Given the description of an element on the screen output the (x, y) to click on. 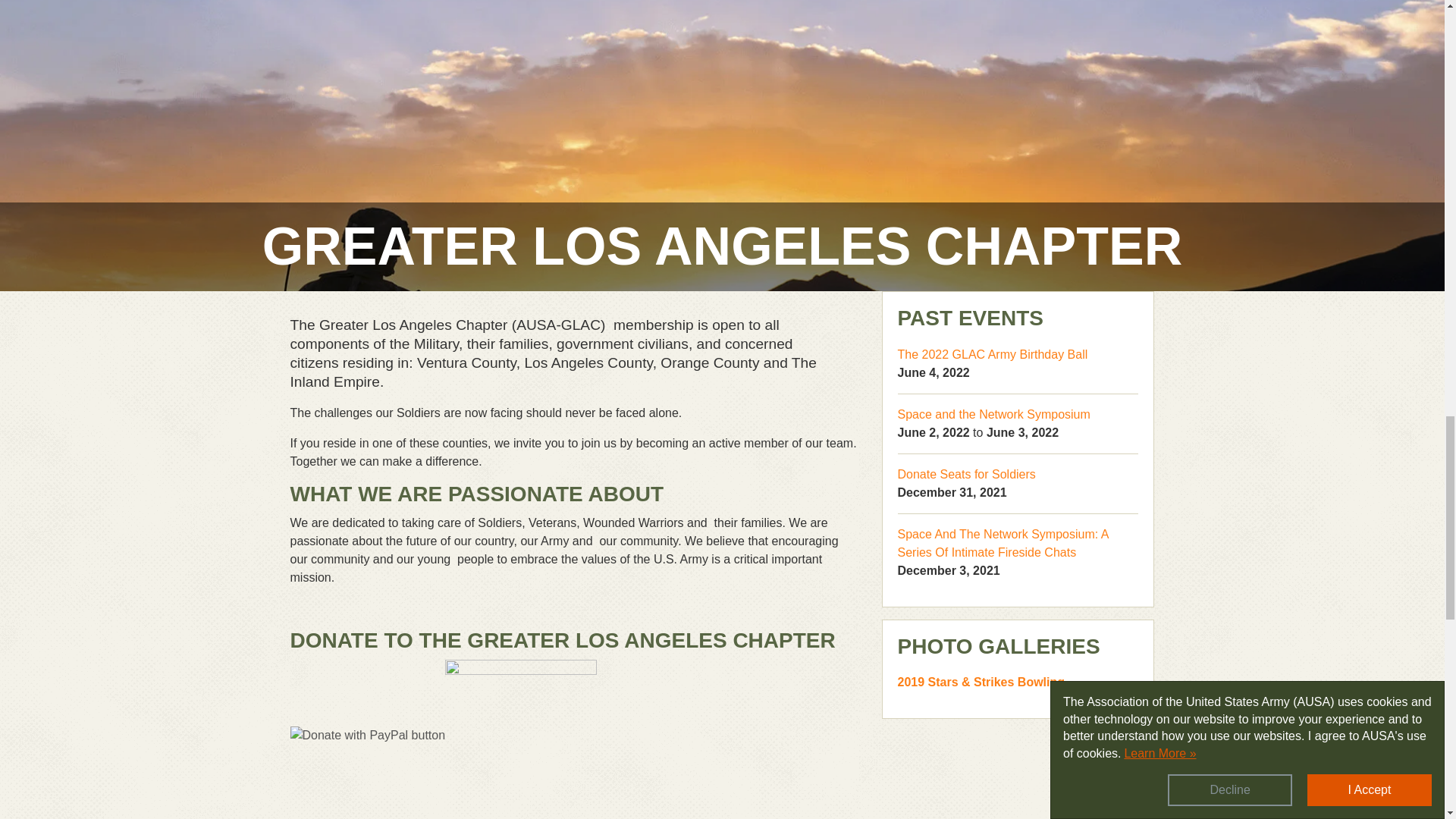
PayPal - The safer, easier way to pay online! (367, 735)
